Given the description of an element on the screen output the (x, y) to click on. 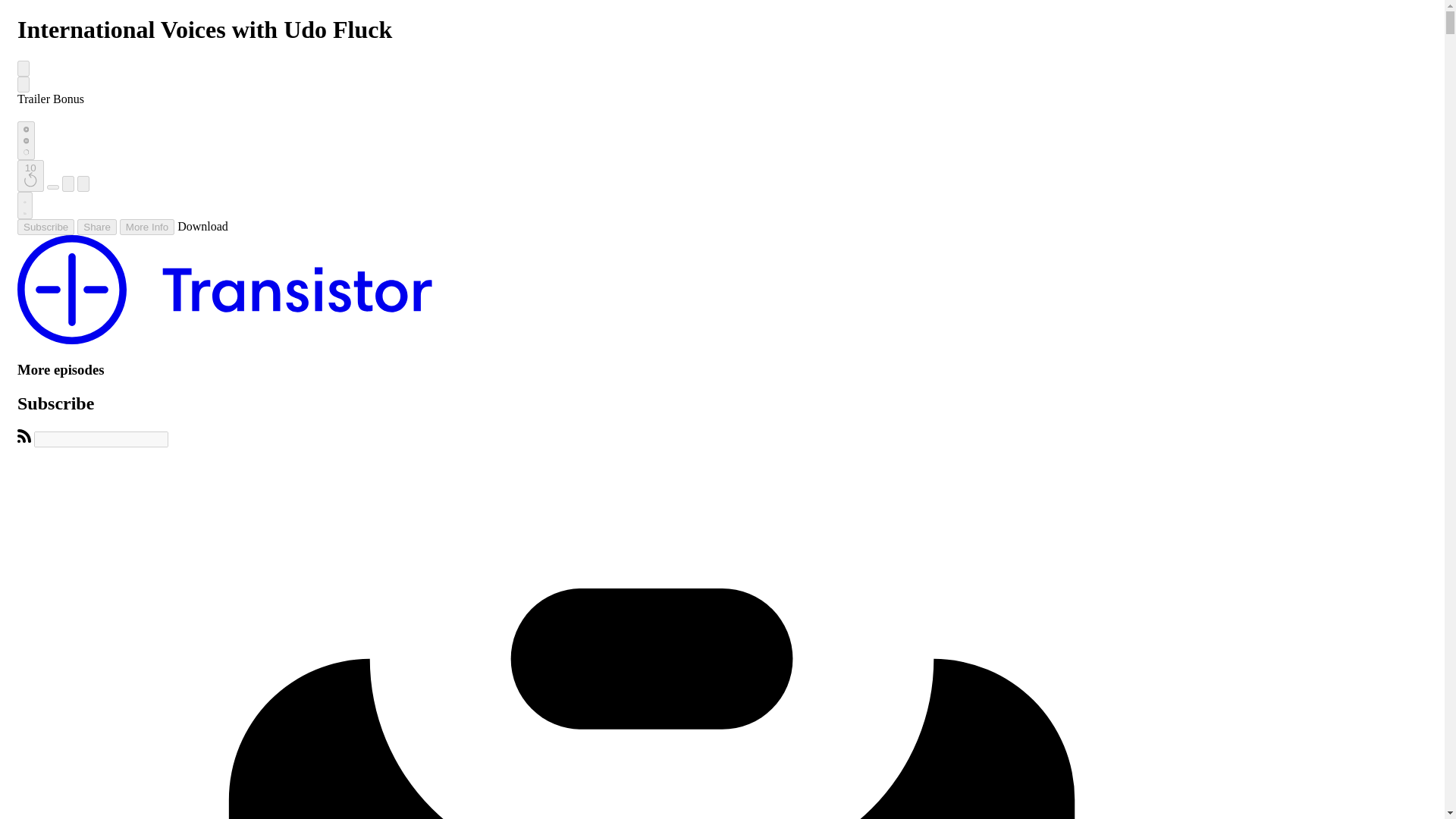
Share (96, 227)
Show sharing options (96, 227)
Download (202, 226)
Visit Transistor.fm - Podcast Hosting and Analytics (224, 339)
More Info (146, 227)
Download MP3 (202, 226)
Show subscribe options (45, 227)
Show episode details (146, 227)
Subscribe (45, 227)
